Given the description of an element on the screen output the (x, y) to click on. 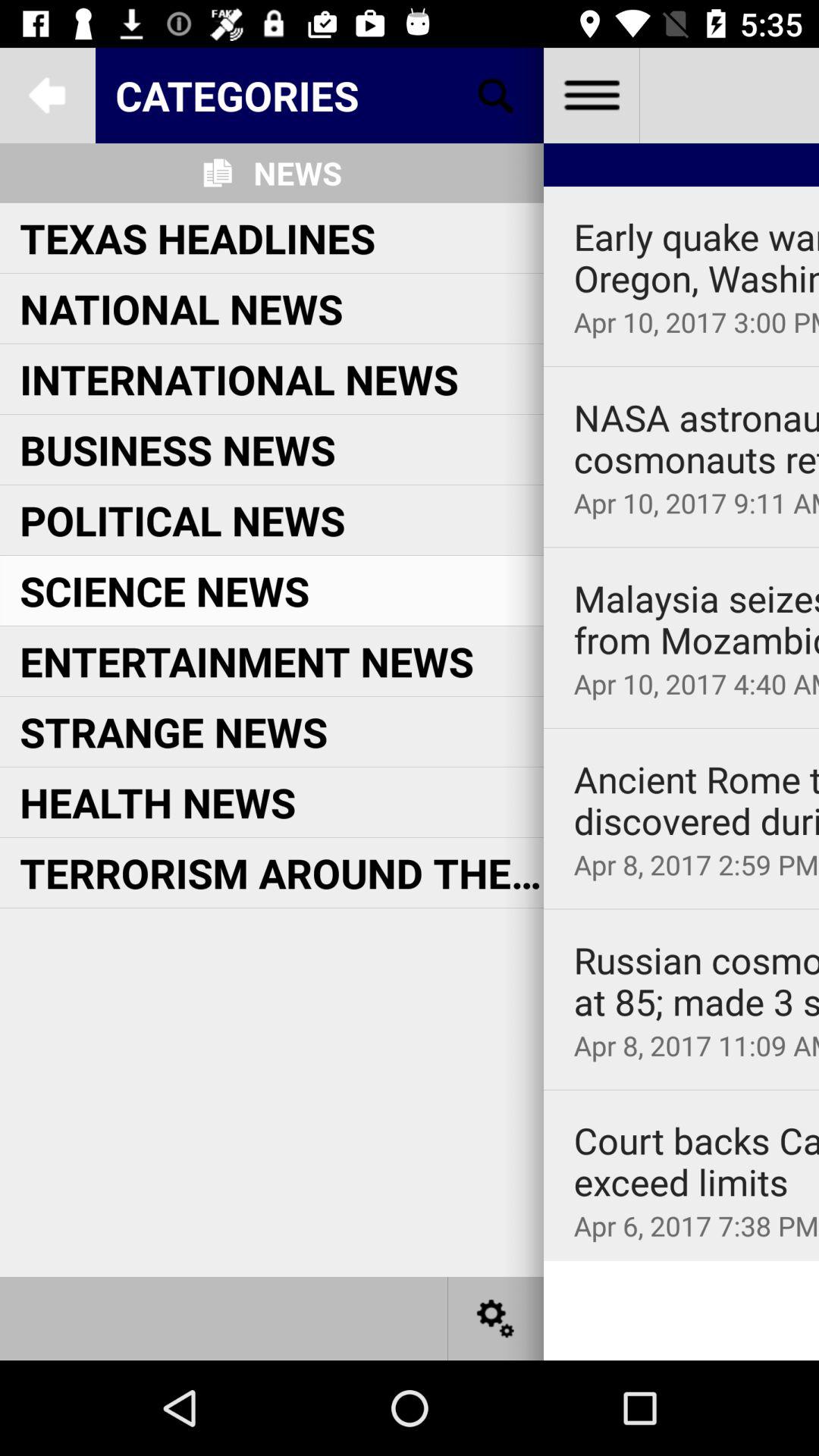
go back (47, 95)
